Given the description of an element on the screen output the (x, y) to click on. 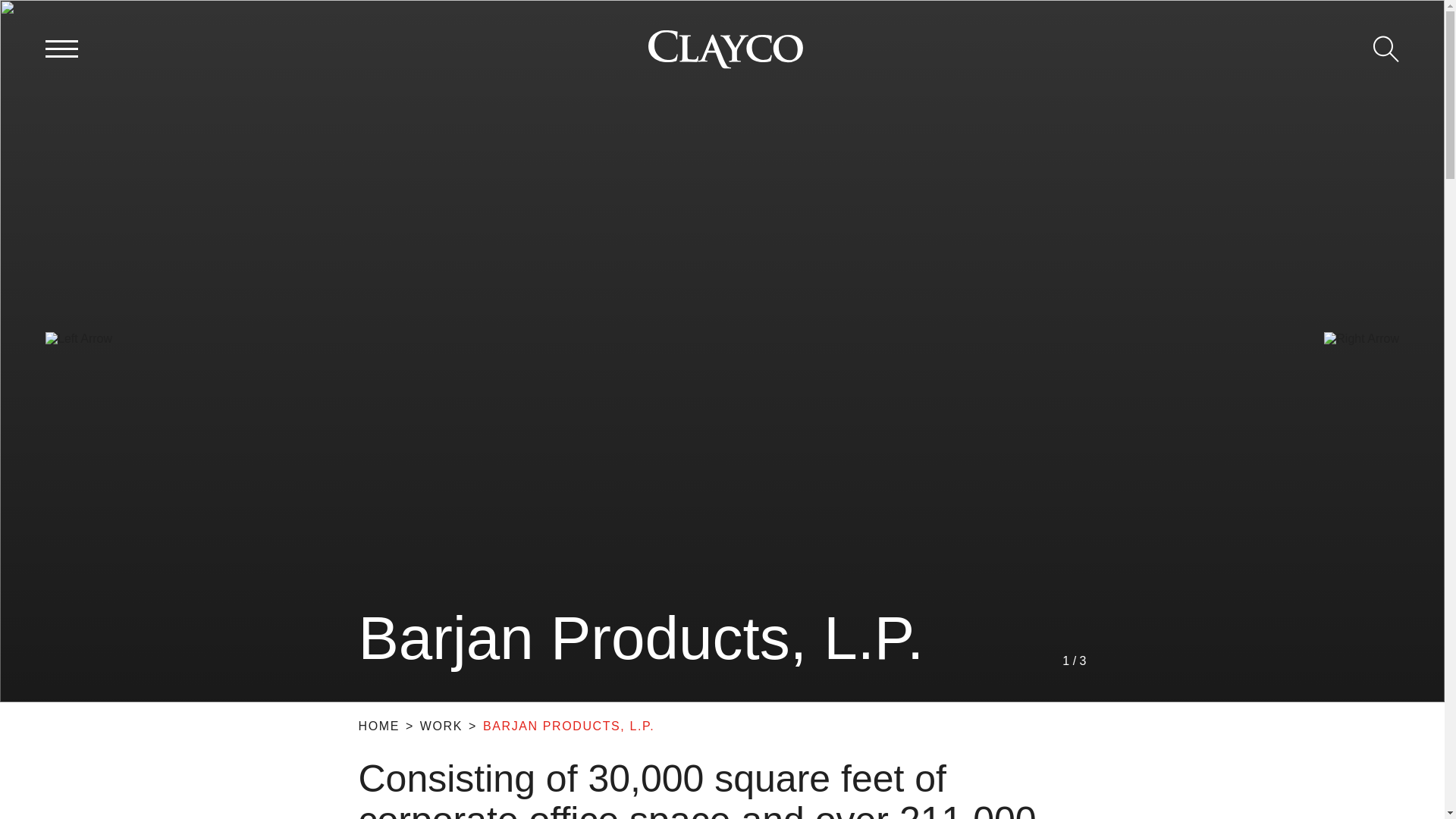
Search (1386, 49)
homepage (725, 49)
